Given the description of an element on the screen output the (x, y) to click on. 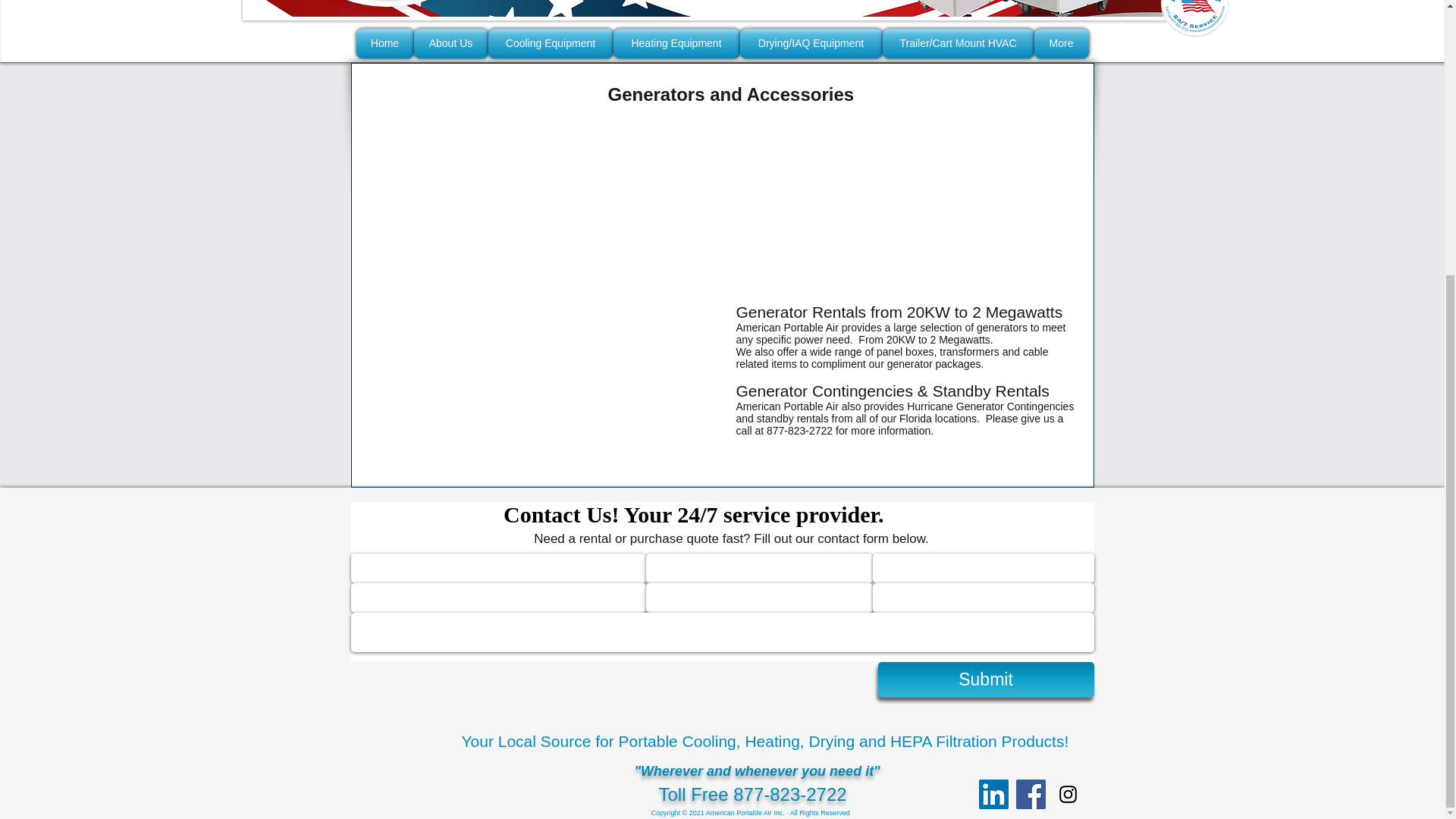
Cooling Equipment (549, 43)
24 Hour Service (1194, 18)
Home (384, 43)
American Portable Air (727, 10)
Submit (985, 679)
Heating Equipment (675, 43)
About Us (450, 43)
Logo (387, 3)
